Given the description of an element on the screen output the (x, y) to click on. 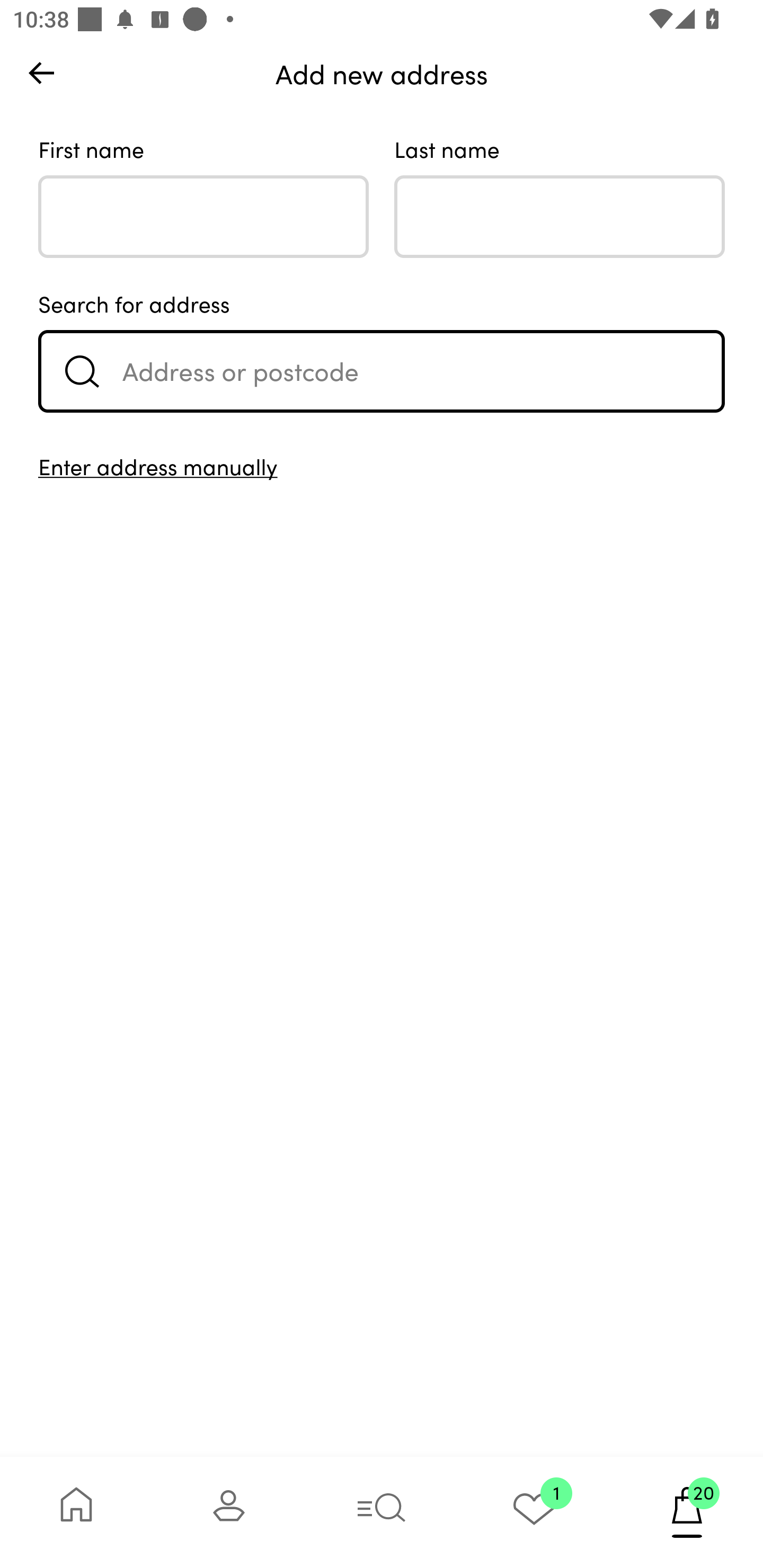
Address or postcode (381, 370)
Enter address manually (381, 466)
1 (533, 1512)
20 (686, 1512)
